Given the description of an element on the screen output the (x, y) to click on. 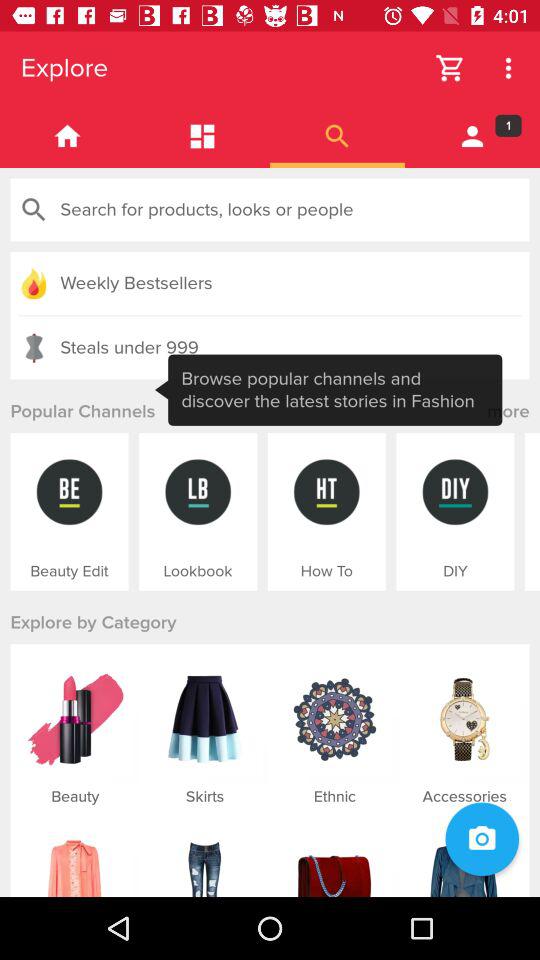
open camera (482, 839)
